Given the description of an element on the screen output the (x, y) to click on. 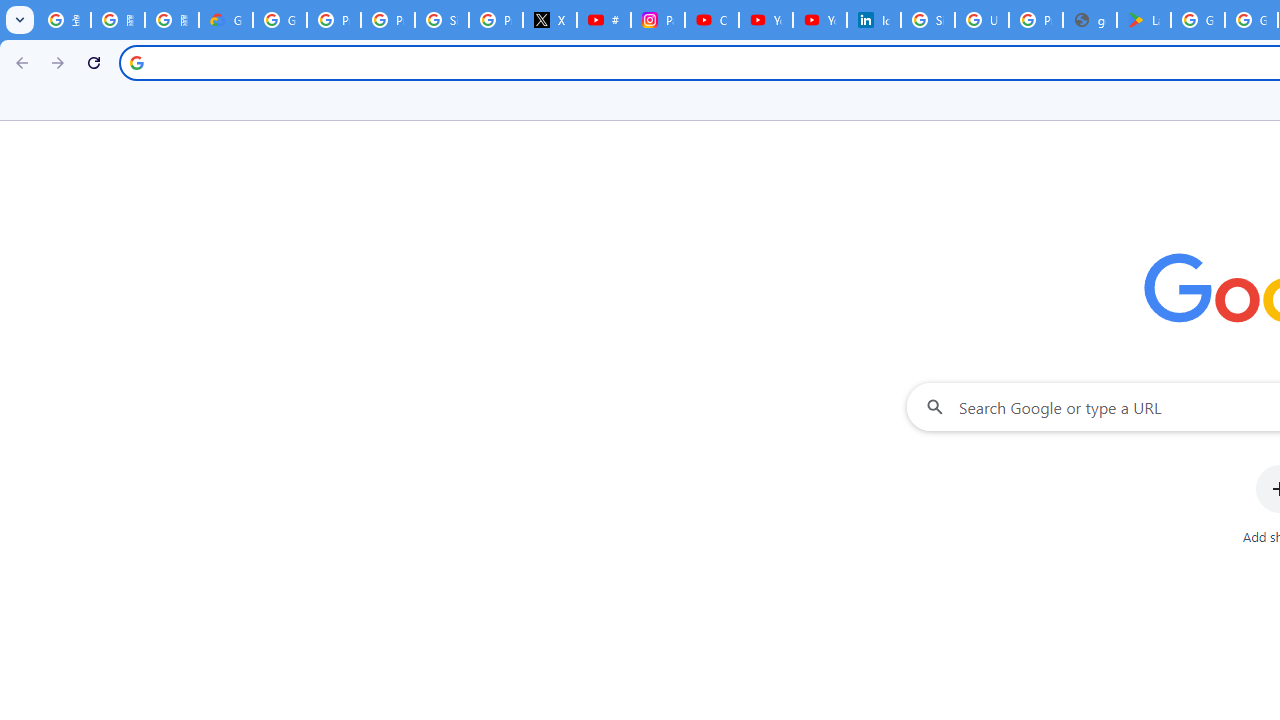
Google Cloud Privacy Notice (225, 20)
Sign in - Google Accounts (441, 20)
#nbabasketballhighlights - YouTube (604, 20)
Last Shelter: Survival - Apps on Google Play (1144, 20)
Privacy Help Center - Policies Help (387, 20)
Sign in - Google Accounts (927, 20)
